Given the description of an element on the screen output the (x, y) to click on. 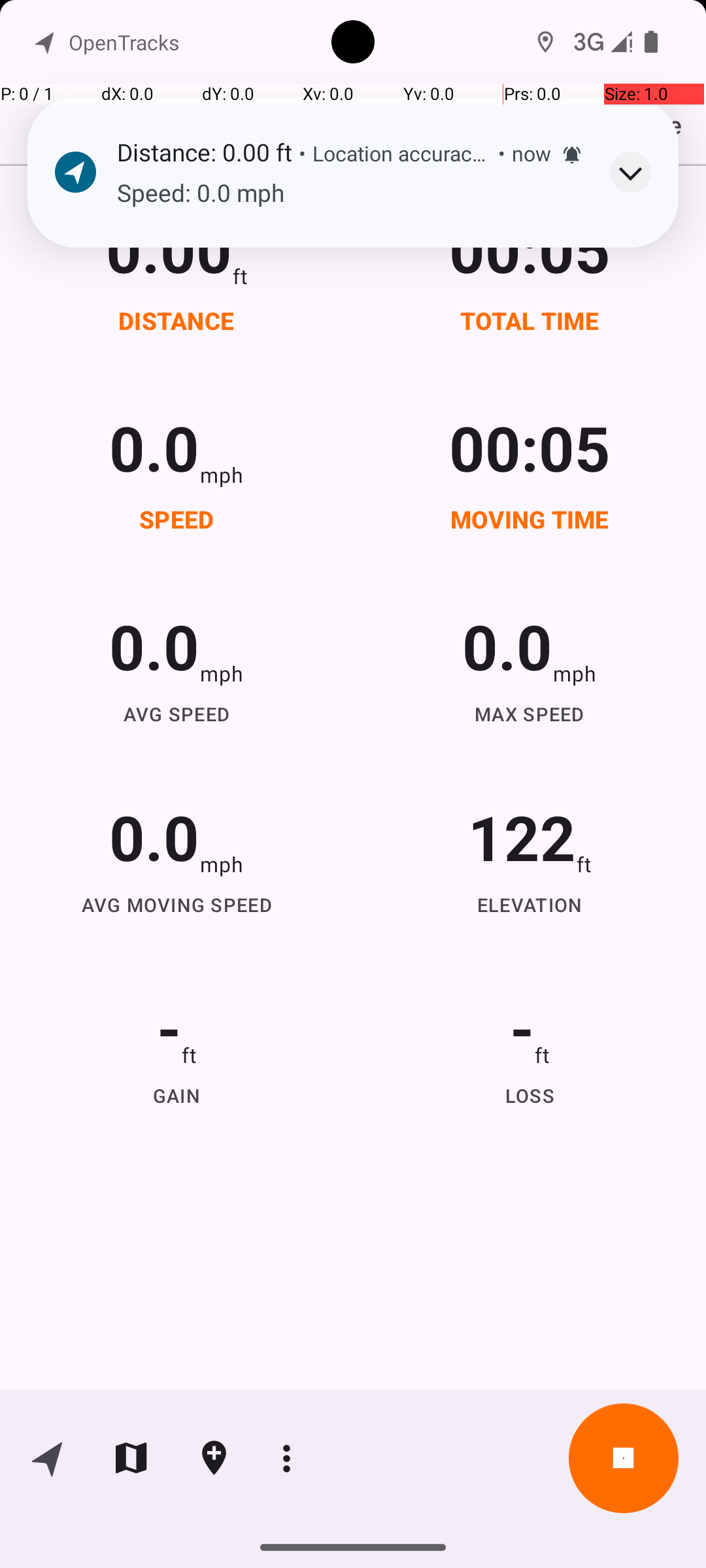
Insert marker Element type: android.widget.Button (213, 1458)
Stop Element type: android.widget.ImageButton (623, 1458)
0.00 Element type: android.widget.TextView (168, 248)
00:05 Element type: android.widget.TextView (529, 248)
0.0 Element type: android.widget.TextView (154, 446)
122 Element type: android.widget.TextView (521, 836)
- Element type: android.widget.TextView (168, 1026)
Off Element type: android.widget.Switch (518, 36)
Speed: 0.0 mph Element type: android.widget.TextView (349, 192)
Expand Element type: android.widget.Button (630, 172)
Distance: 0.00 ft Element type: android.widget.TextView (204, 151)
• Element type: android.widget.TextView (301, 153)
Location accuracy: 16.40 ft Element type: android.widget.TextView (401, 153)
now Element type: android.widget.TextView (531, 153)
Alerted Element type: android.widget.ImageView (571, 154)
